Given the description of an element on the screen output the (x, y) to click on. 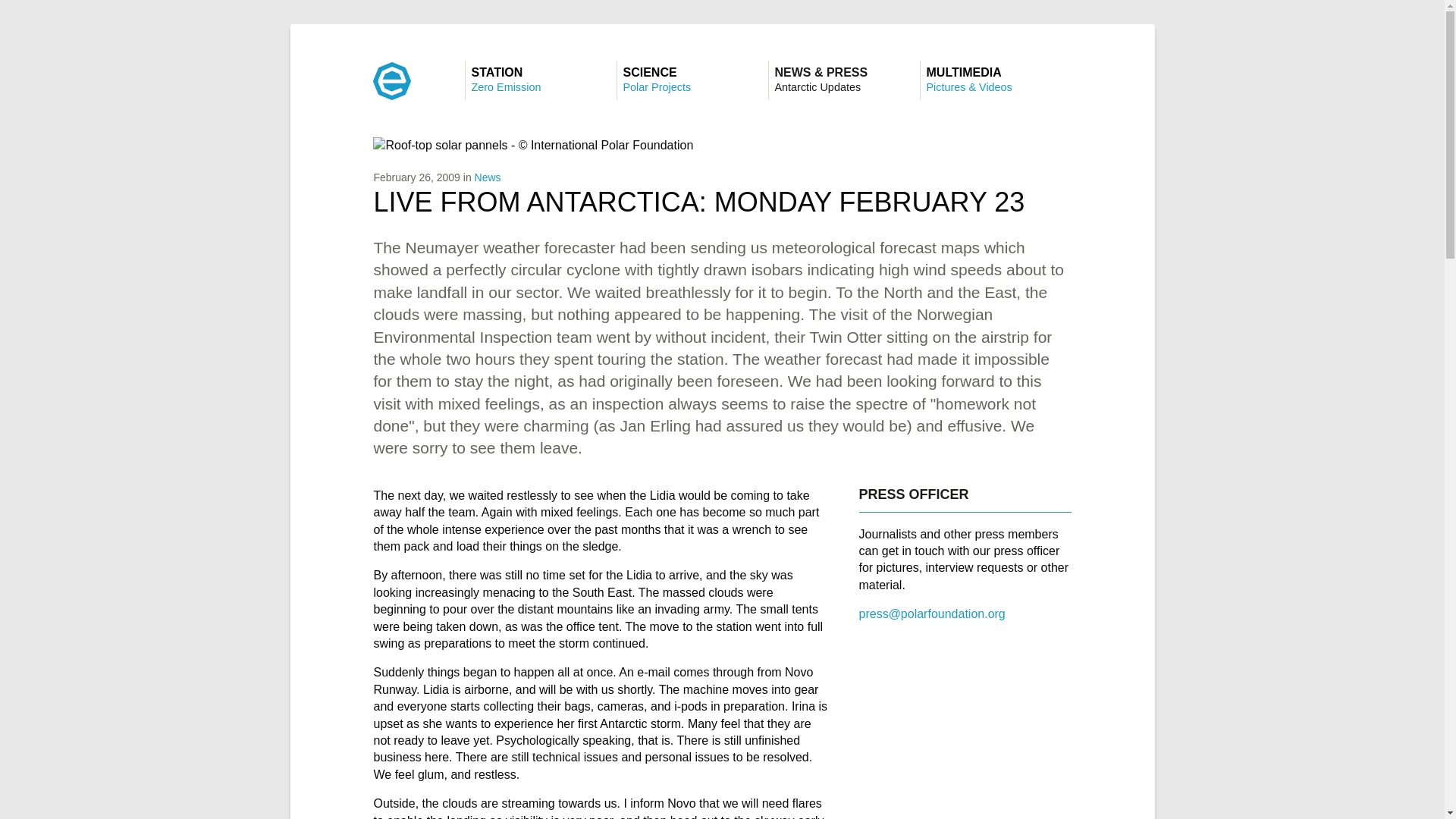
News (539, 79)
